Given the description of an element on the screen output the (x, y) to click on. 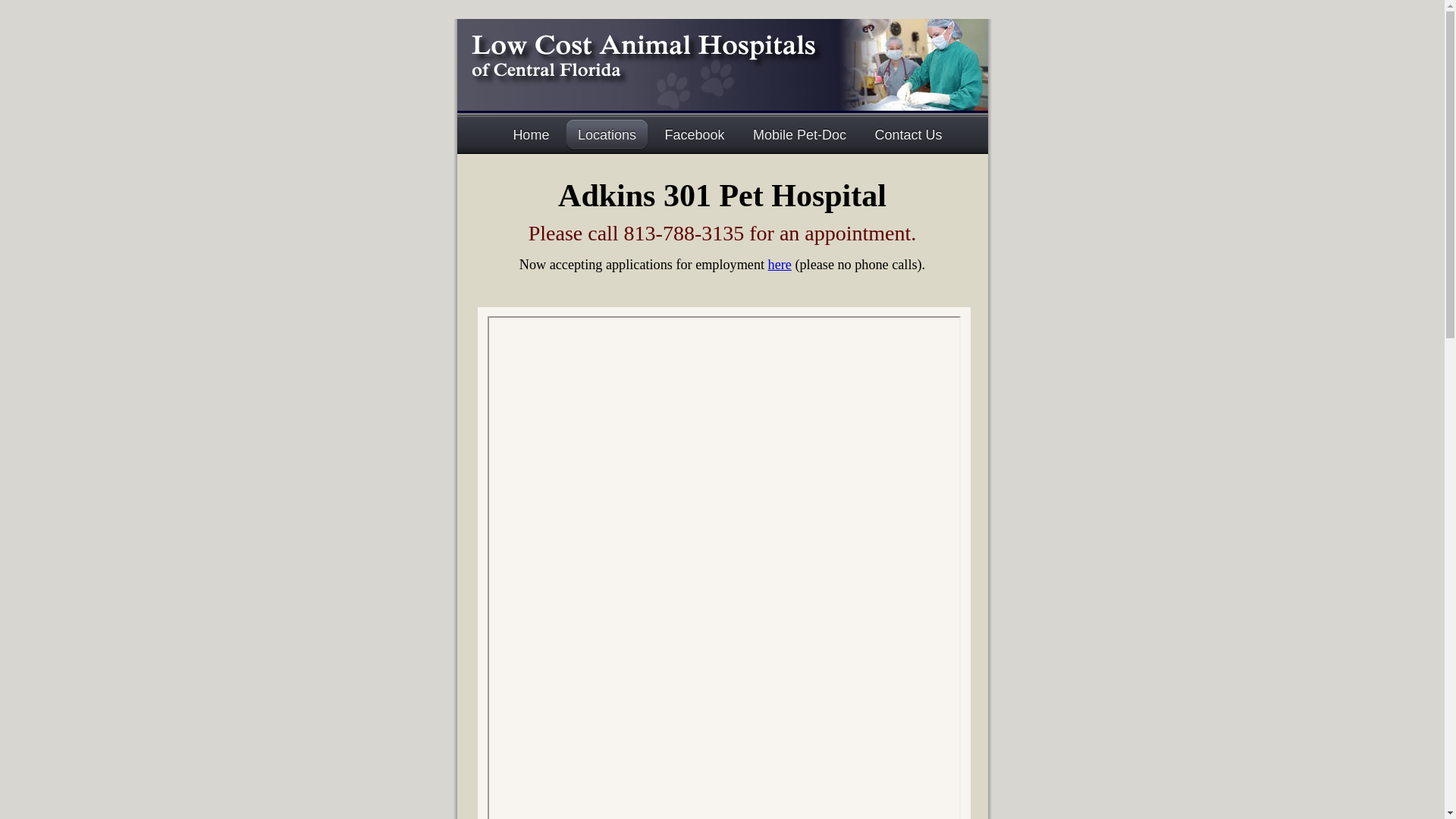
Contact Us Element type: text (908, 134)
Facebook Element type: text (693, 134)
Mobile Pet-Doc Element type: text (799, 134)
here Element type: text (779, 264)
Locations Element type: text (606, 134)
Home Element type: text (530, 134)
